Given the description of an element on the screen output the (x, y) to click on. 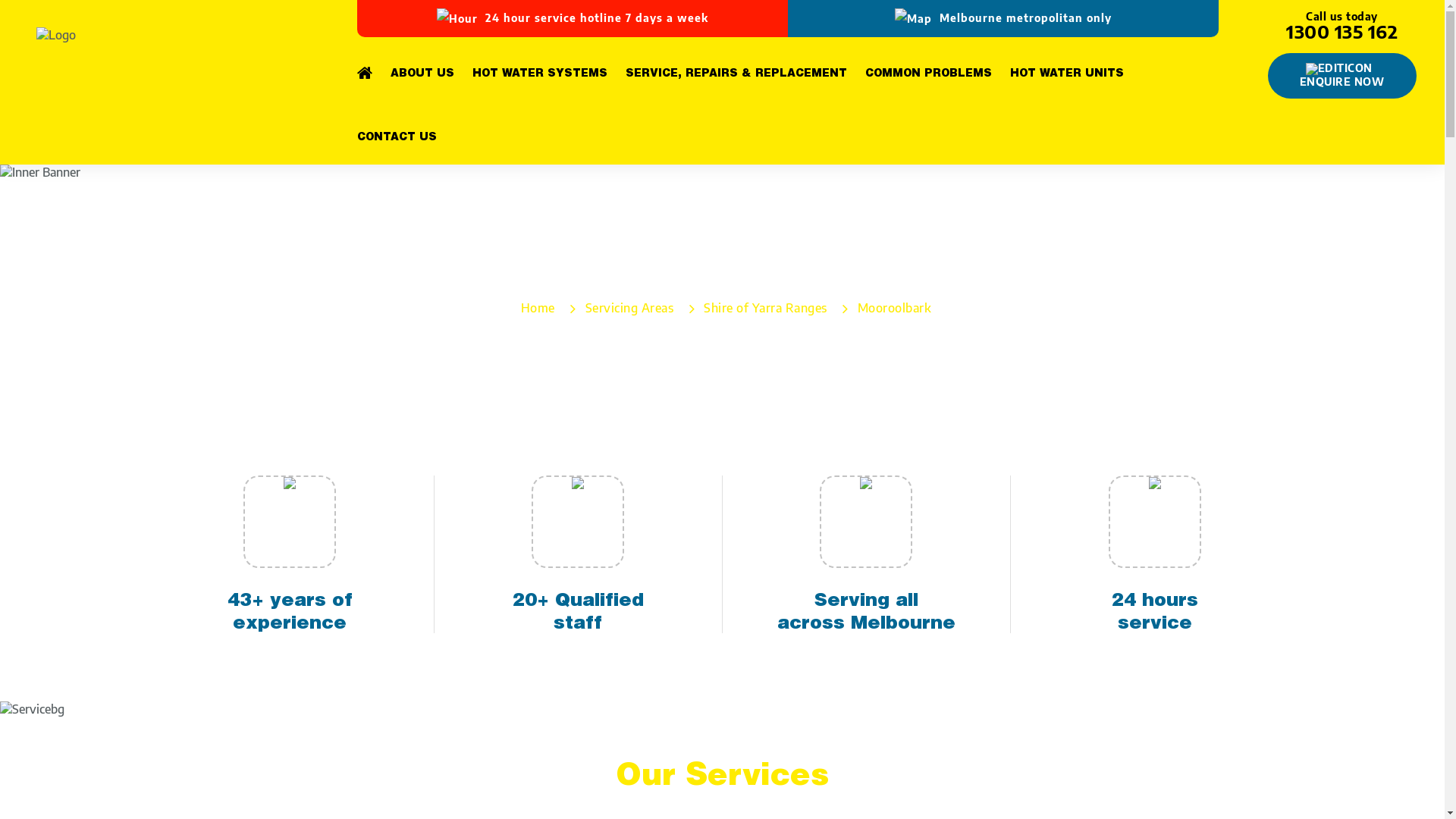
1300 135 162 Element type: text (1341, 30)
HOT WATER SYSTEMS Element type: text (547, 70)
Home Element type: text (537, 307)
Servicing Areas Element type: text (629, 307)
Shire of Yarra Ranges Element type: text (765, 307)
COMMON PROBLEMS Element type: text (936, 70)
CONTACT US Element type: text (396, 133)
ABOUT US Element type: text (430, 70)
ENQUIRE NOW Element type: text (1341, 75)
SERVICE, REPAIRS & REPLACEMENT Element type: text (744, 70)
HOT WATER UNITS Element type: text (1076, 70)
